Given the description of an element on the screen output the (x, y) to click on. 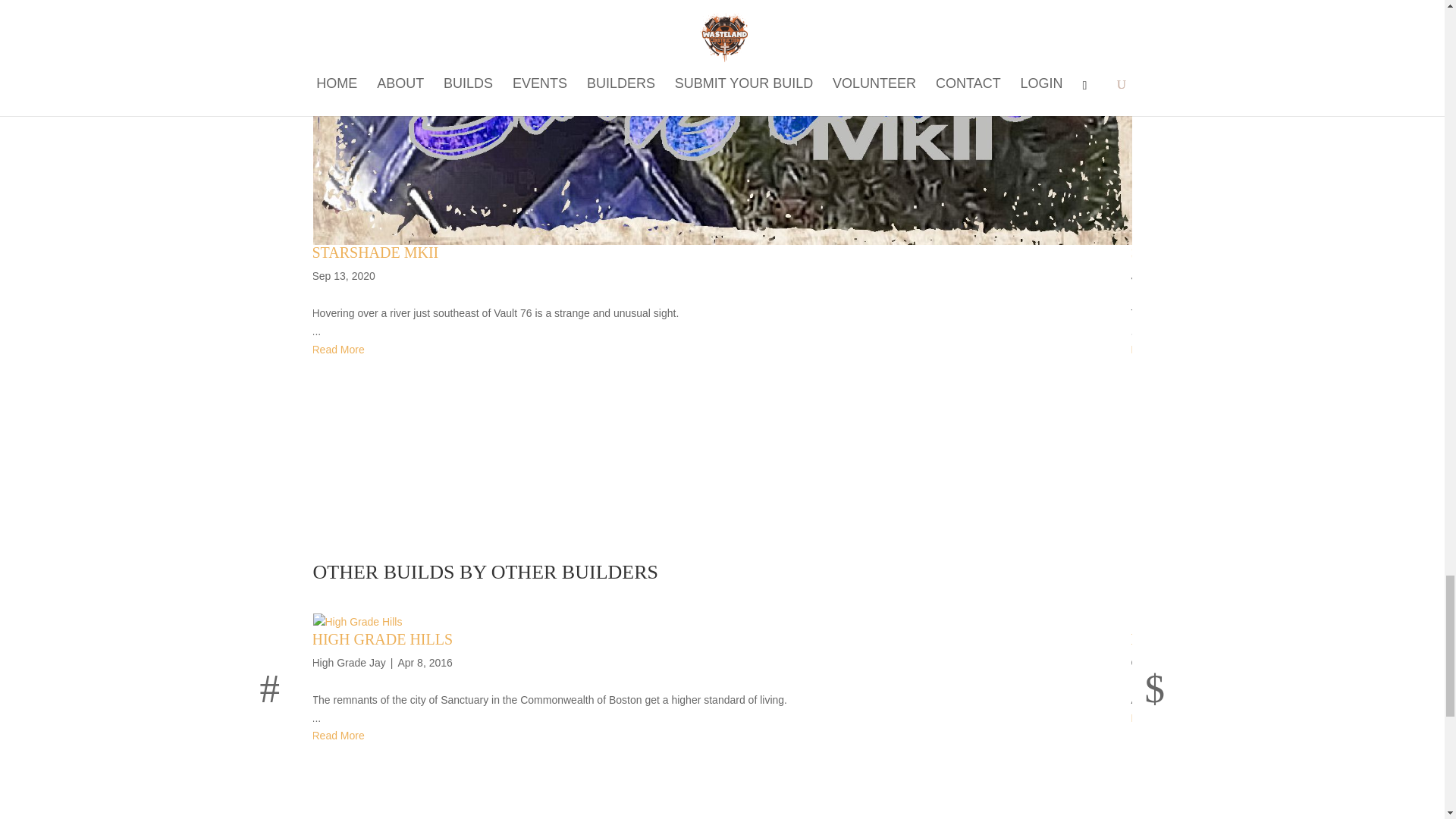
STARSHADE MKI (1191, 252)
Read More (1160, 350)
STARSHADE MKII (376, 252)
Read More (341, 350)
